Given the description of an element on the screen output the (x, y) to click on. 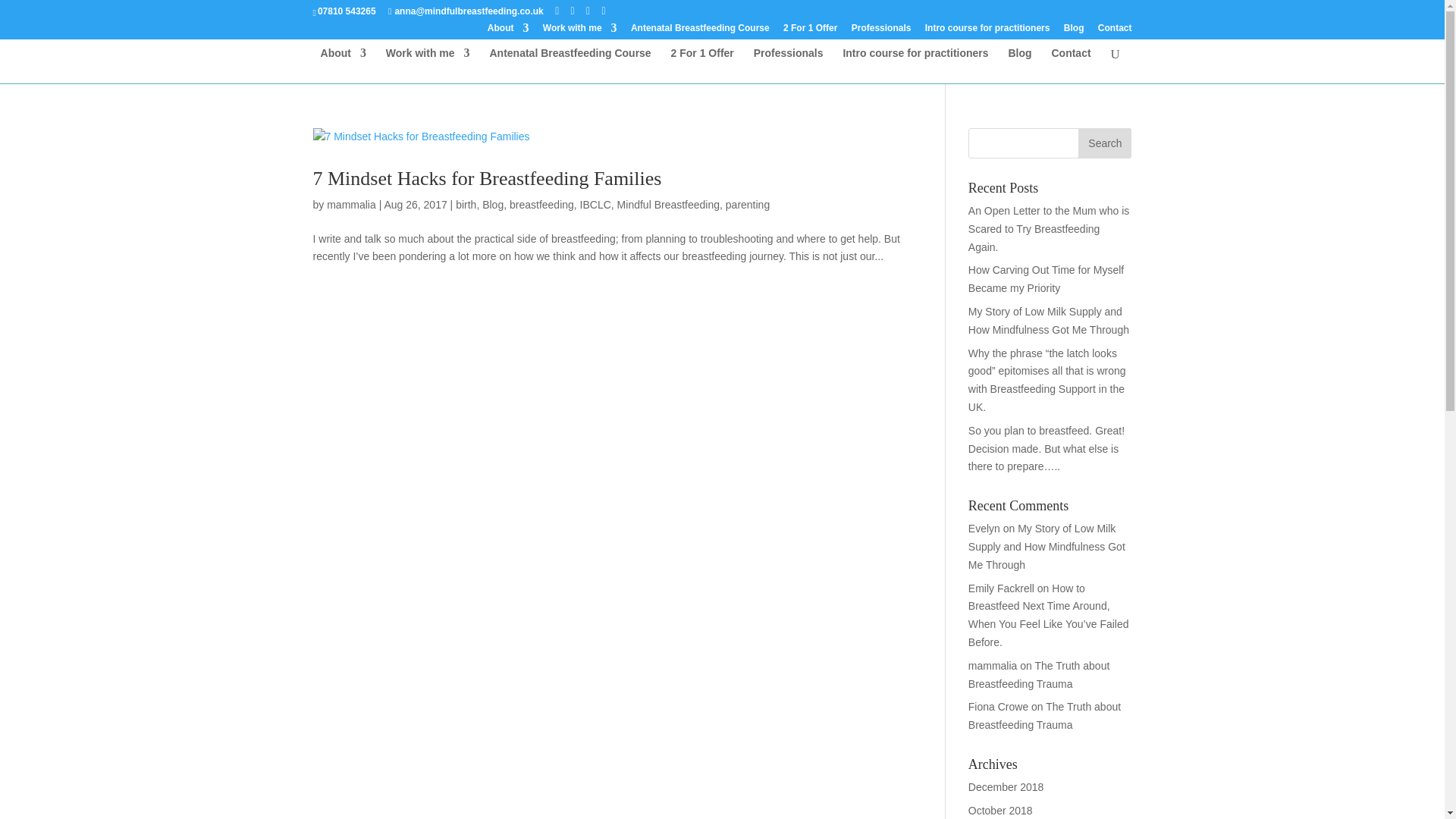
Intro course for practitioners (986, 31)
Work with me (427, 65)
About (343, 65)
7 Mindset Hacks for Breastfeeding Families (487, 178)
mammalia (350, 204)
Intro course for practitioners (915, 65)
2 For 1 Offer (810, 31)
Antenatal Breastfeeding Course (700, 31)
Professionals (789, 65)
Antenatal Breastfeeding Course (569, 65)
2 For 1 Offer (702, 65)
Professionals (881, 31)
Contact (1114, 31)
Contact (1070, 65)
Search (1104, 142)
